Given the description of an element on the screen output the (x, y) to click on. 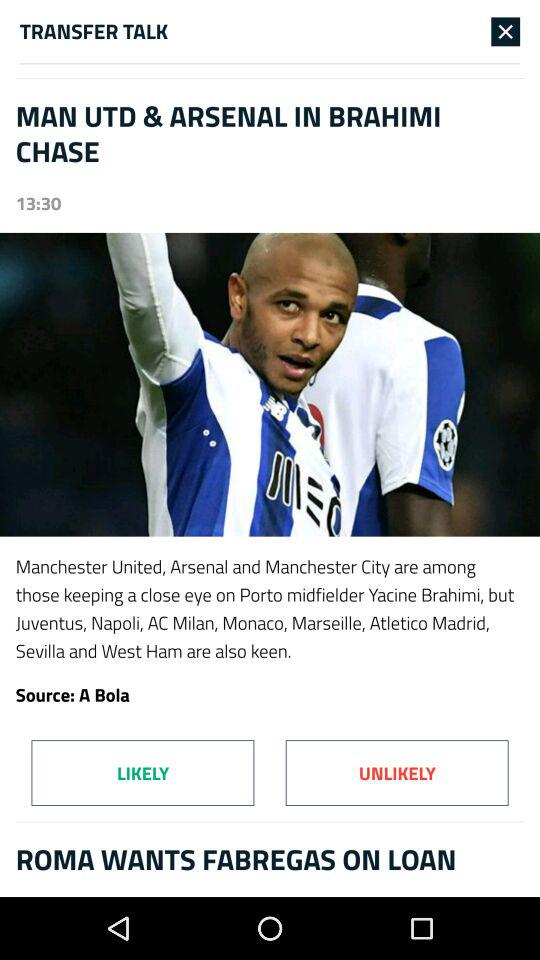
choose item below the source: a bola item (396, 772)
